Given the description of an element on the screen output the (x, y) to click on. 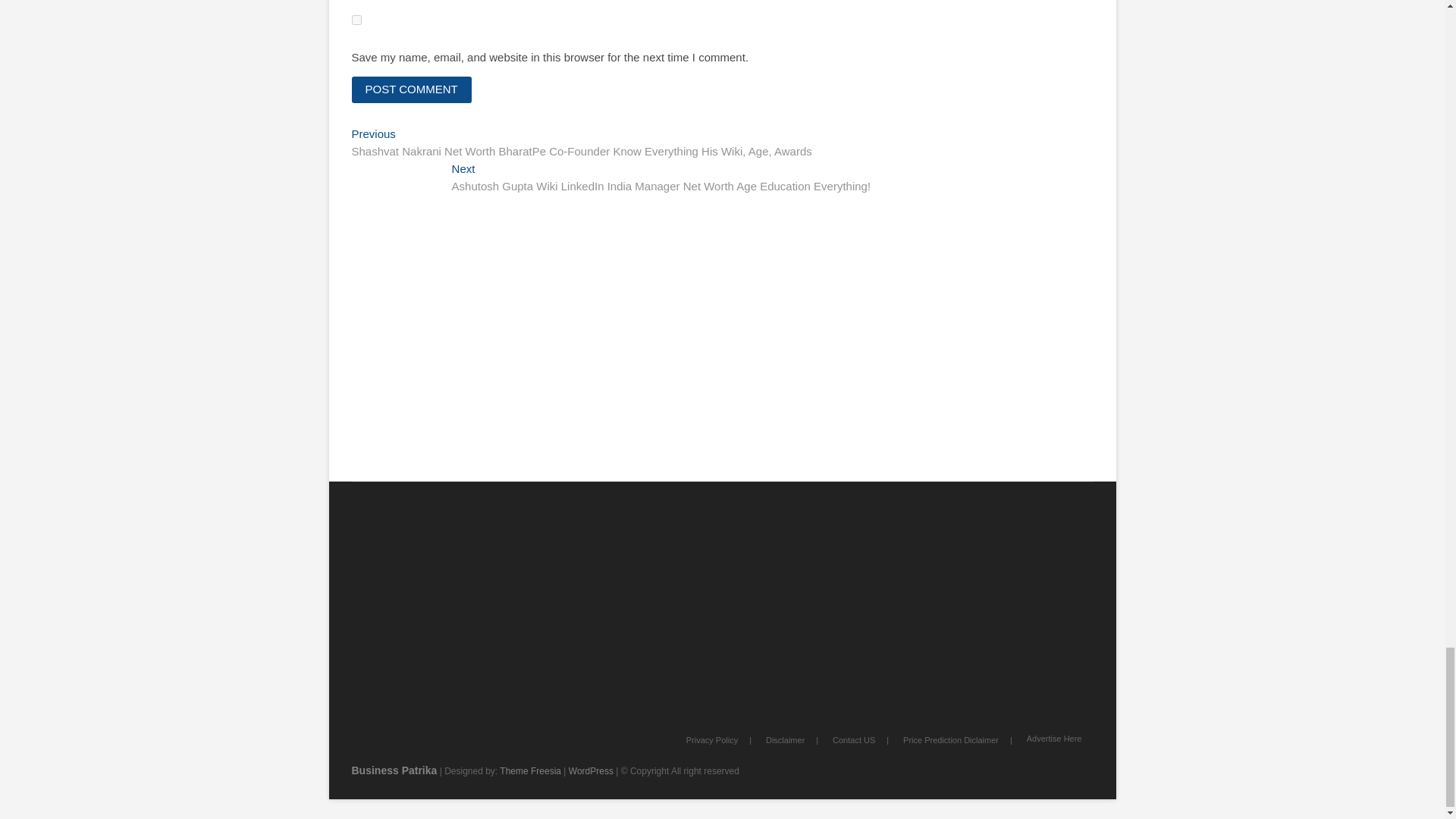
yes (356, 20)
Post Comment (411, 89)
Post Comment (411, 89)
